Given the description of an element on the screen output the (x, y) to click on. 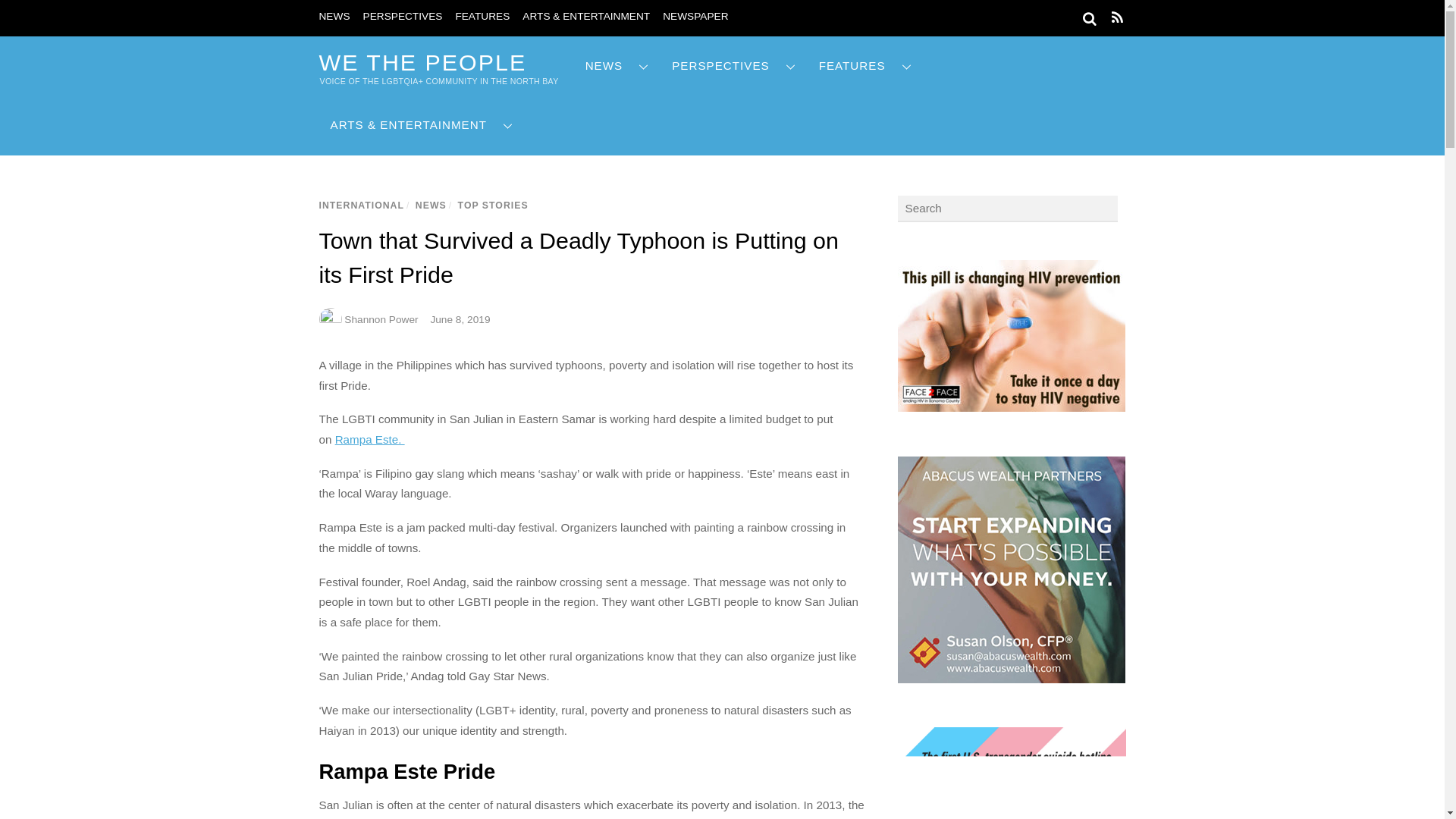
NEWS (617, 66)
FEATURES (481, 16)
PERSPECTIVES (402, 16)
We The People (421, 62)
NEWS (333, 16)
WE THE PEOPLE (421, 62)
NEWSPAPER (695, 16)
